Given the description of an element on the screen output the (x, y) to click on. 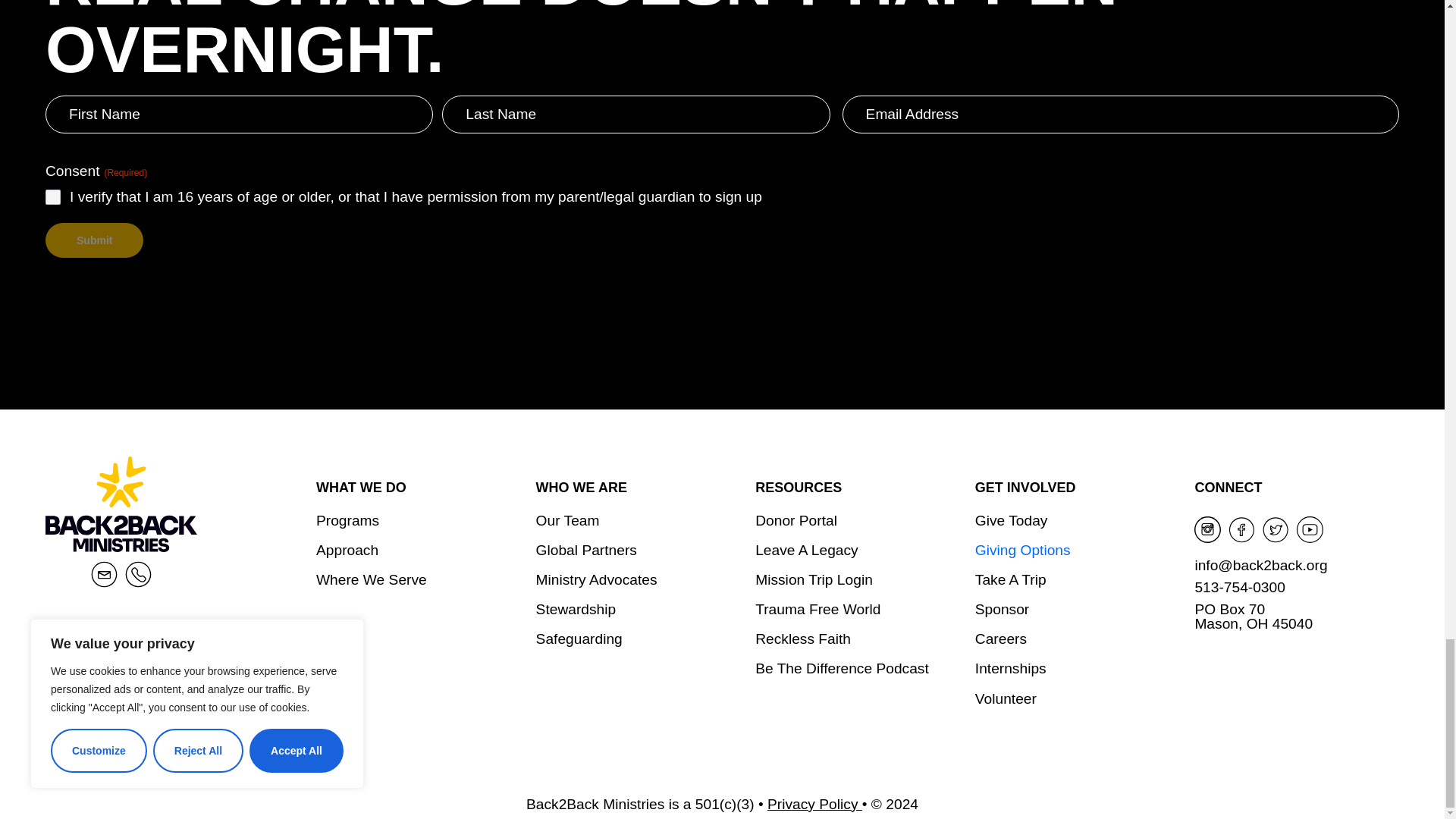
Submit (93, 239)
1 (53, 196)
